Given the description of an element on the screen output the (x, y) to click on. 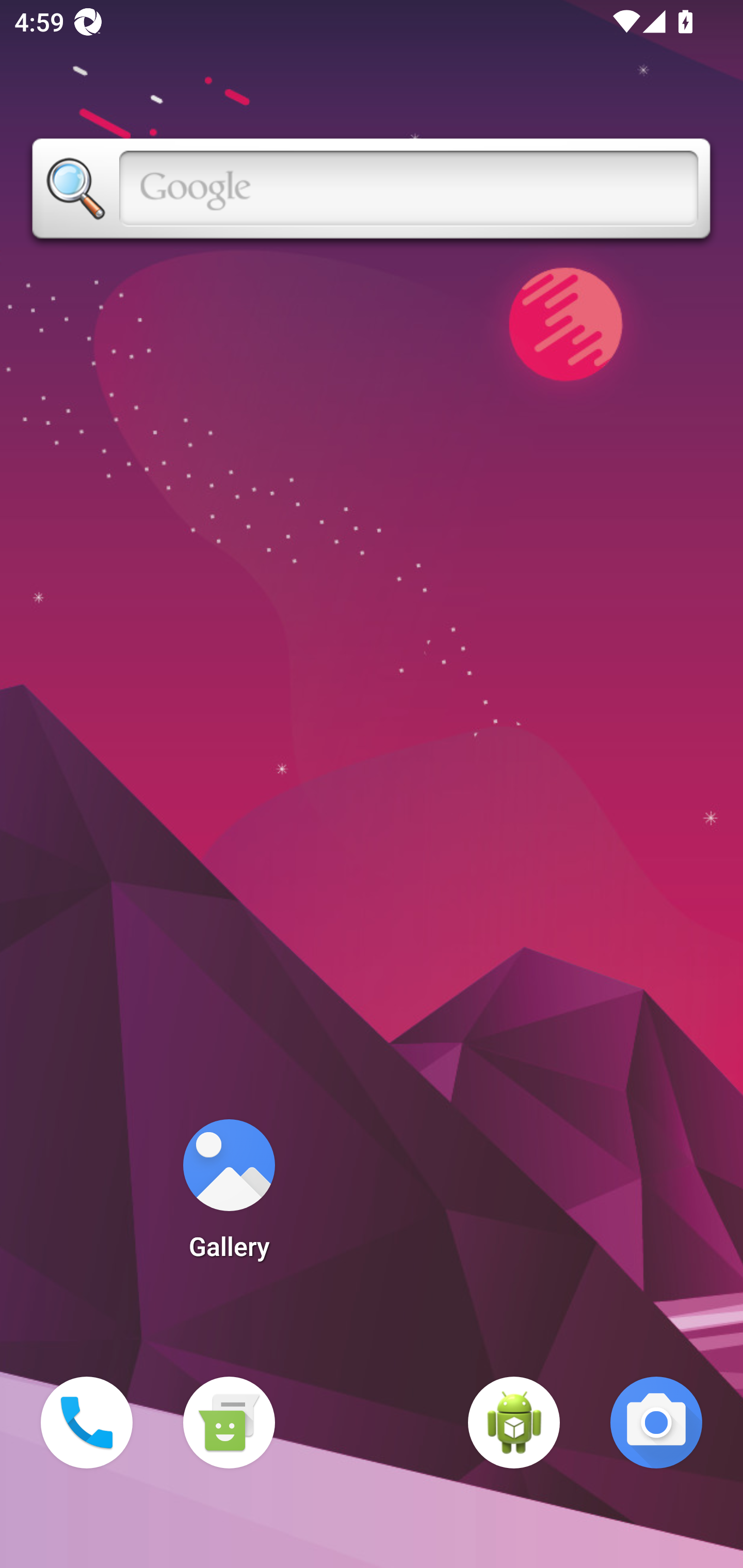
Gallery (228, 1195)
Phone (86, 1422)
Messaging (228, 1422)
WebView Browser Tester (513, 1422)
Camera (656, 1422)
